Given the description of an element on the screen output the (x, y) to click on. 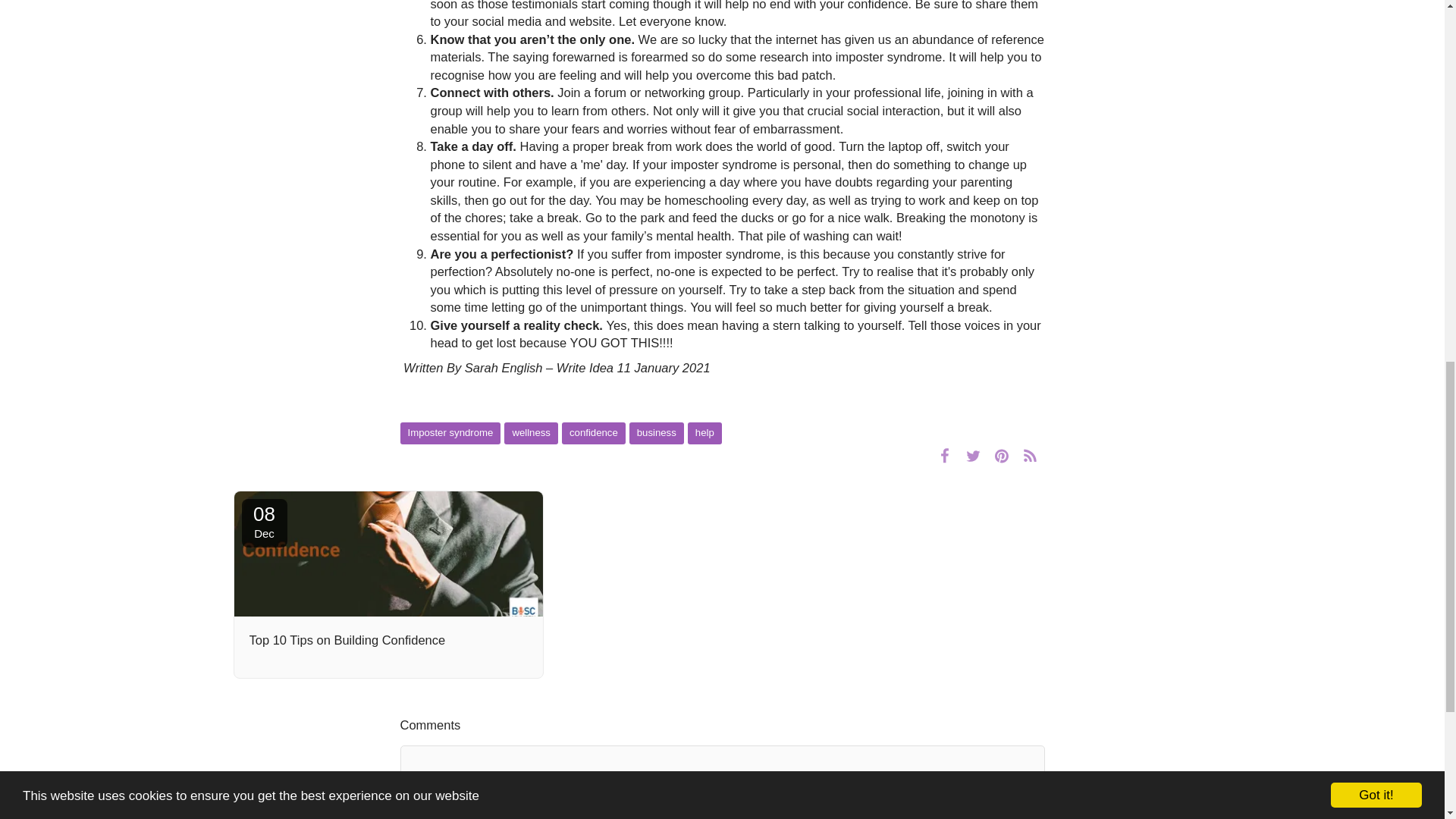
Tweet (973, 455)
Share on Facebook (945, 455)
wellness (530, 433)
Pin it (1002, 455)
RSS (1029, 455)
Imposter syndrome (450, 433)
